Given the description of an element on the screen output the (x, y) to click on. 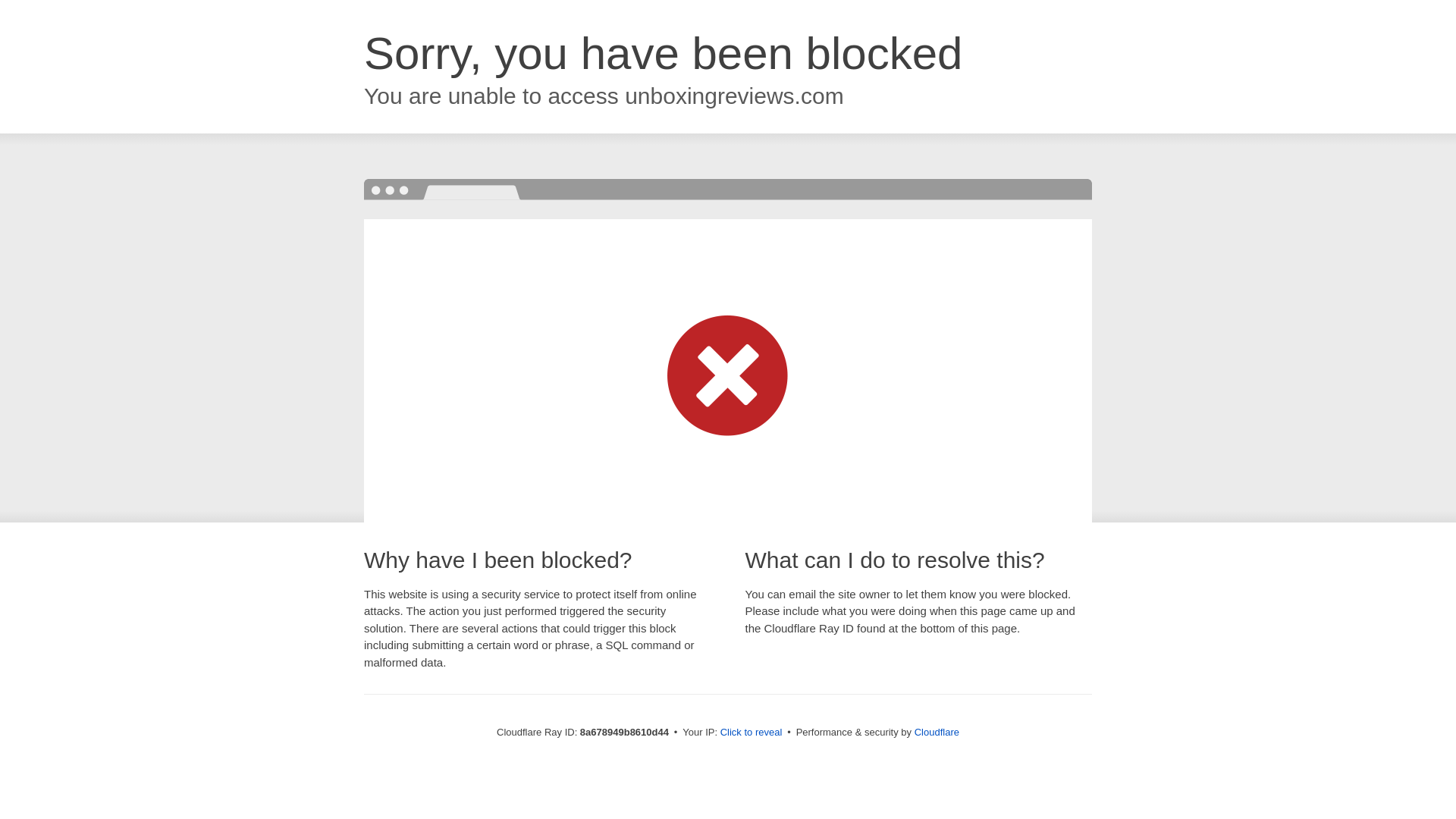
Cloudflare (936, 731)
Click to reveal (751, 732)
